Given the description of an element on the screen output the (x, y) to click on. 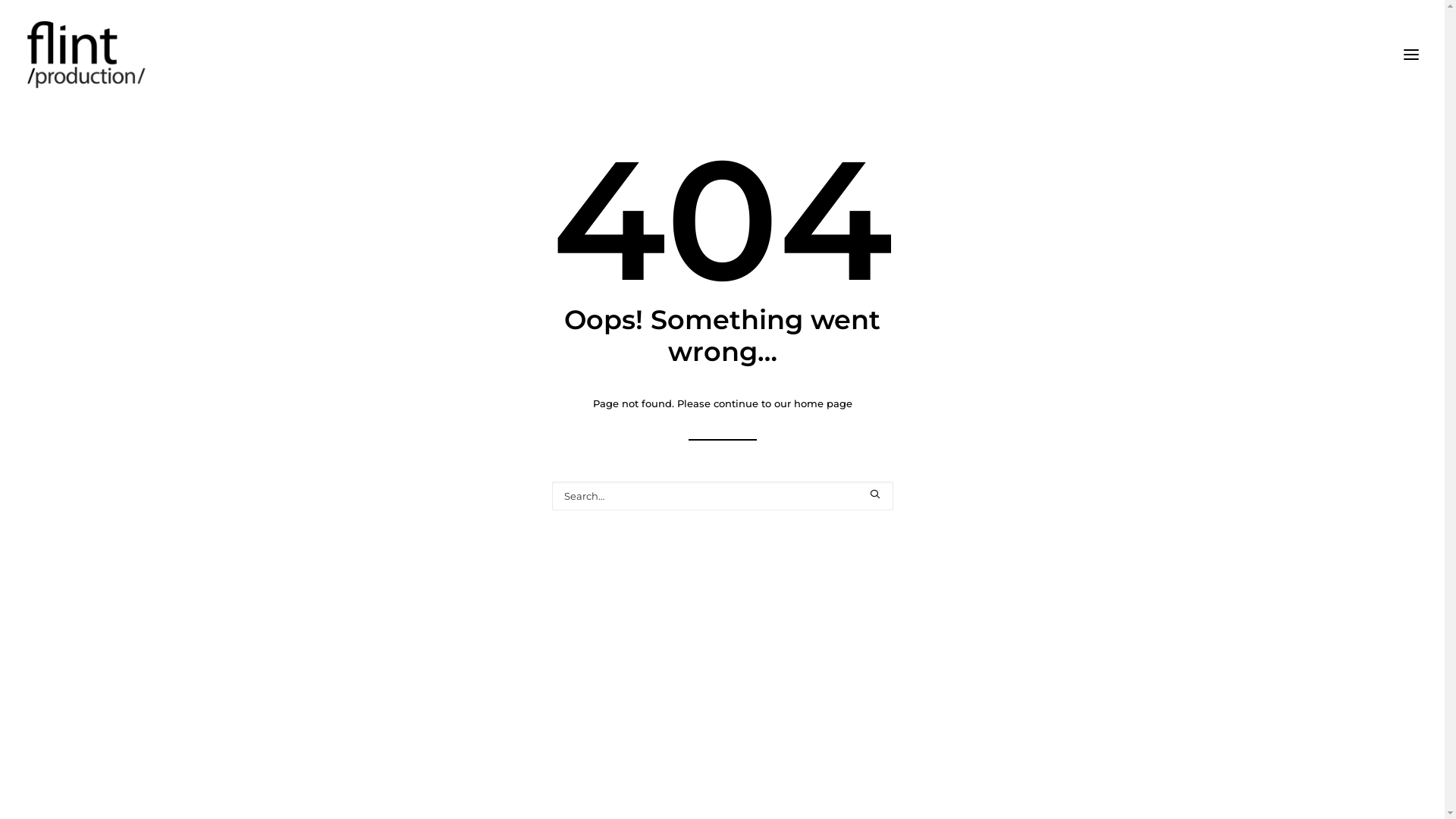
home page Element type: text (822, 403)
Search for: Element type: hover (722, 495)
